Given the description of an element on the screen output the (x, y) to click on. 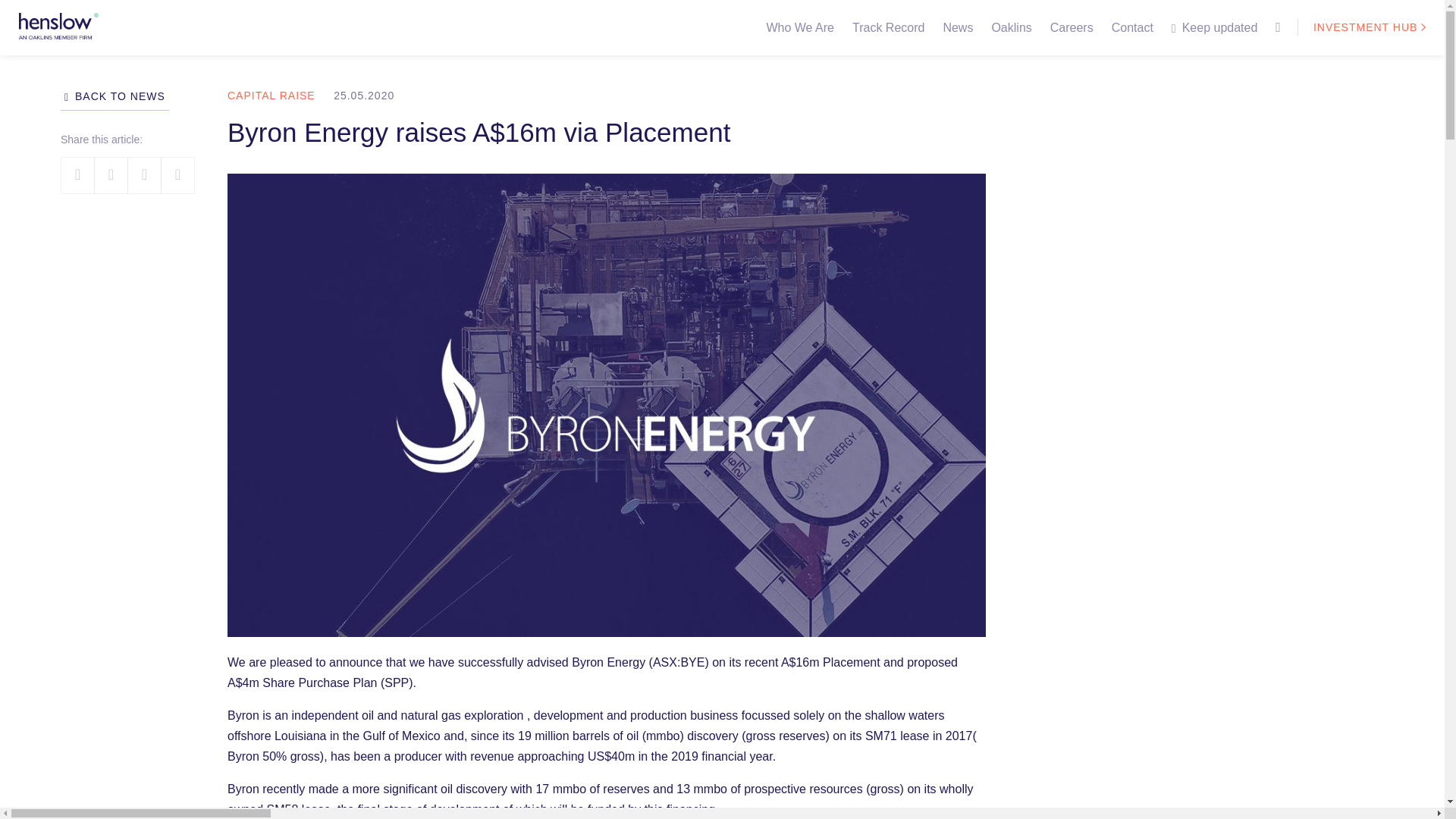
Who We Are (800, 27)
Menu Item (1278, 31)
Contact (1131, 27)
Careers (1071, 27)
INVESTMENT HUB (1361, 27)
Track Record (888, 27)
News (957, 27)
CAPITAL RAISE (271, 95)
Keep updated (1219, 27)
BACK TO NEWS (114, 96)
Oaklins (1011, 27)
